Given the description of an element on the screen output the (x, y) to click on. 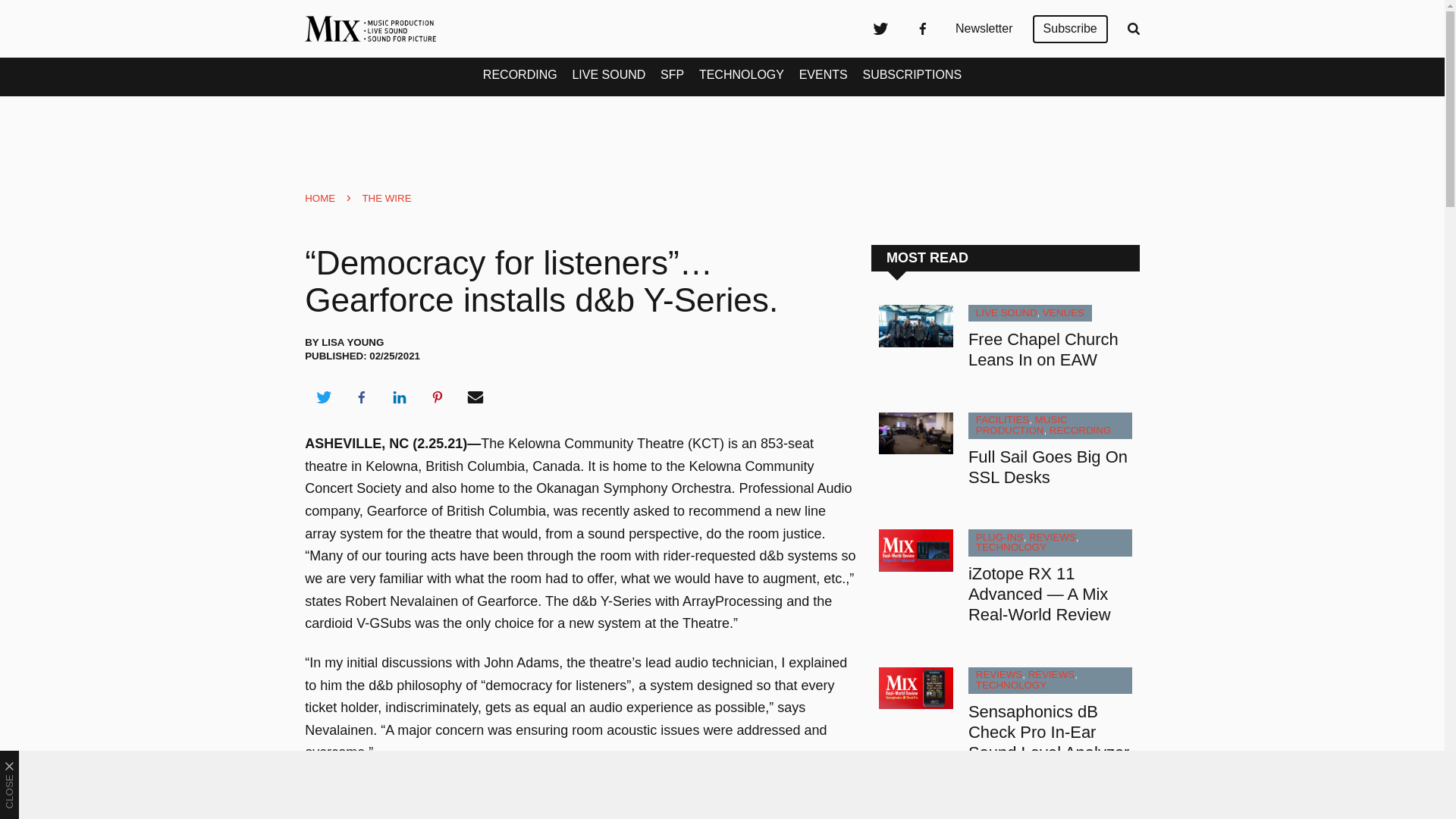
Share on Pinterest (438, 397)
Share on Twitter (323, 397)
Share on Facebook (361, 397)
Share on LinkedIn (399, 397)
Share via Email (476, 397)
